Given the description of an element on the screen output the (x, y) to click on. 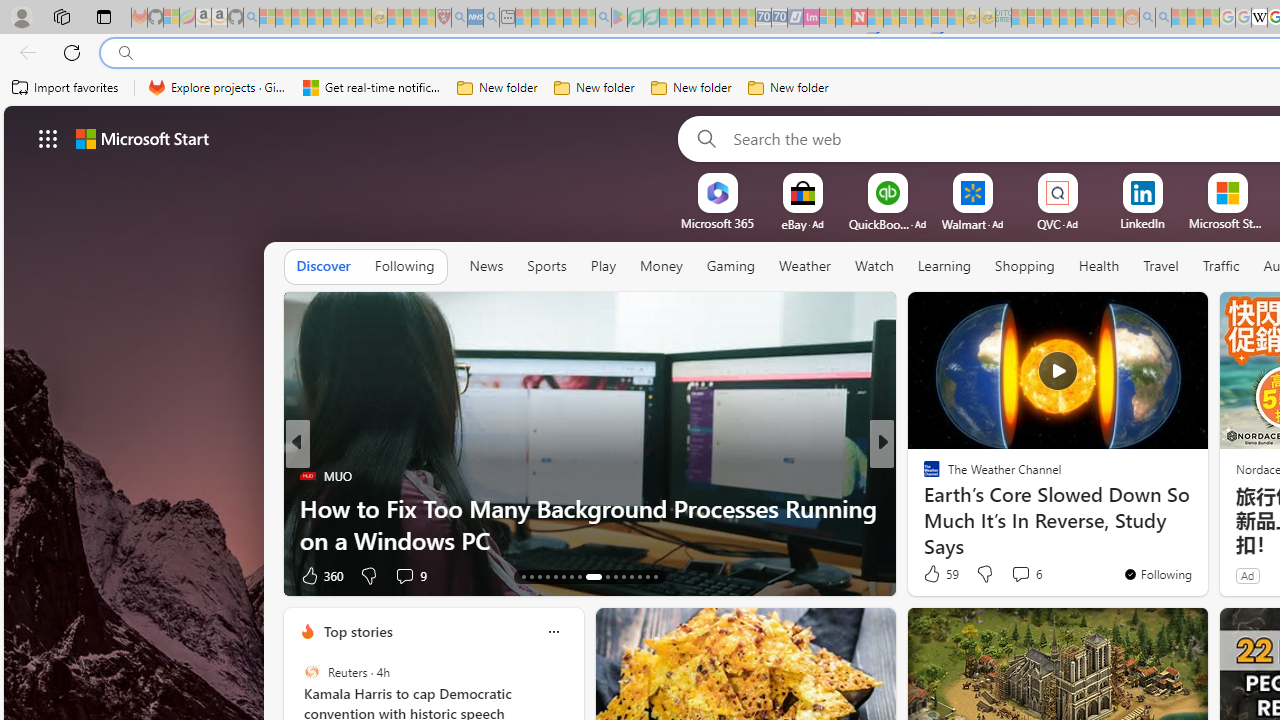
Sports (546, 267)
utah sues federal government - Search - Sleeping (491, 17)
AutomationID: tab-14 (531, 576)
AutomationID: tab-19 (571, 576)
New Report Confirms 2023 Was Record Hot | Watch - Sleeping (331, 17)
View comments 2 Comment (1026, 574)
View comments 4 Comment (1014, 575)
14 Common Myths Debunked By Scientific Facts - Sleeping (891, 17)
google - Search - Sleeping (603, 17)
AutomationID: tab-22 (606, 576)
AutomationID: tab-16 (546, 576)
Watch (874, 265)
Travel (1160, 267)
Class: icon-img (553, 632)
